Given the description of an element on the screen output the (x, y) to click on. 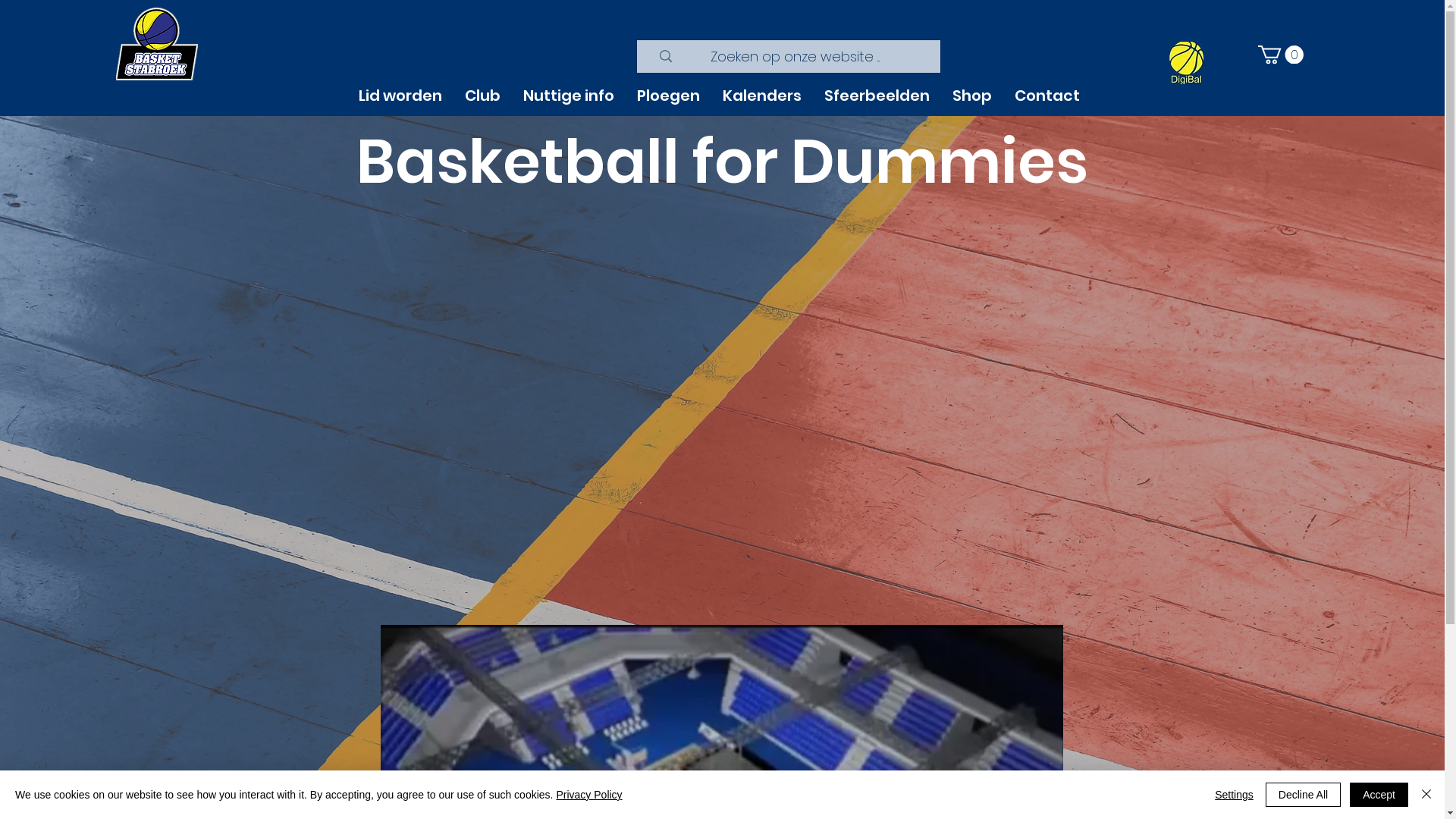
Privacy Policy Element type: text (588, 794)
Decline All Element type: text (1302, 794)
0 Element type: text (1280, 54)
Lid worden Element type: text (403, 95)
Accept Element type: text (1378, 794)
